Given the description of an element on the screen output the (x, y) to click on. 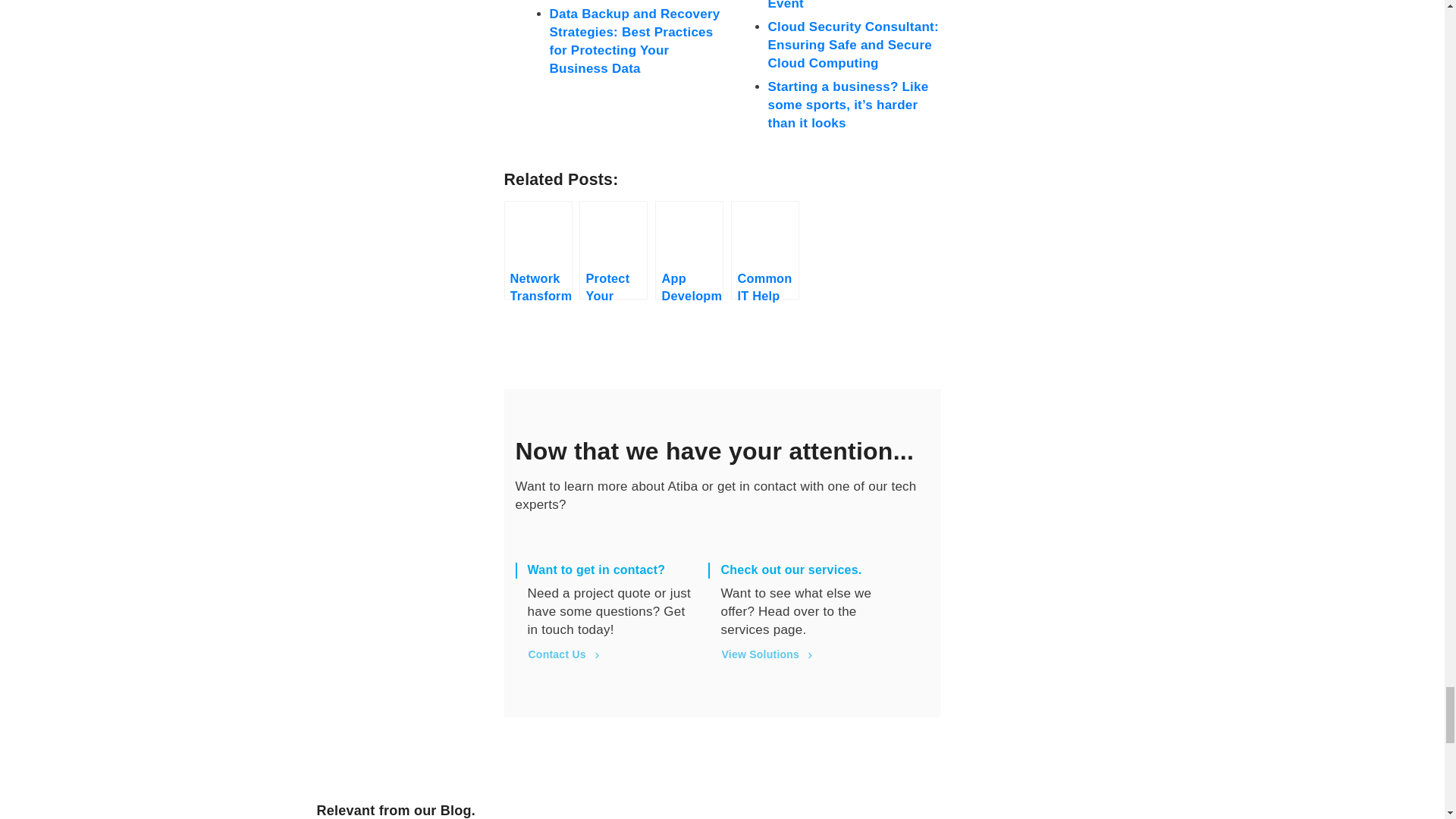
How to Recover from an Unexpected Data Loss Event (843, 5)
